Given the description of an element on the screen output the (x, y) to click on. 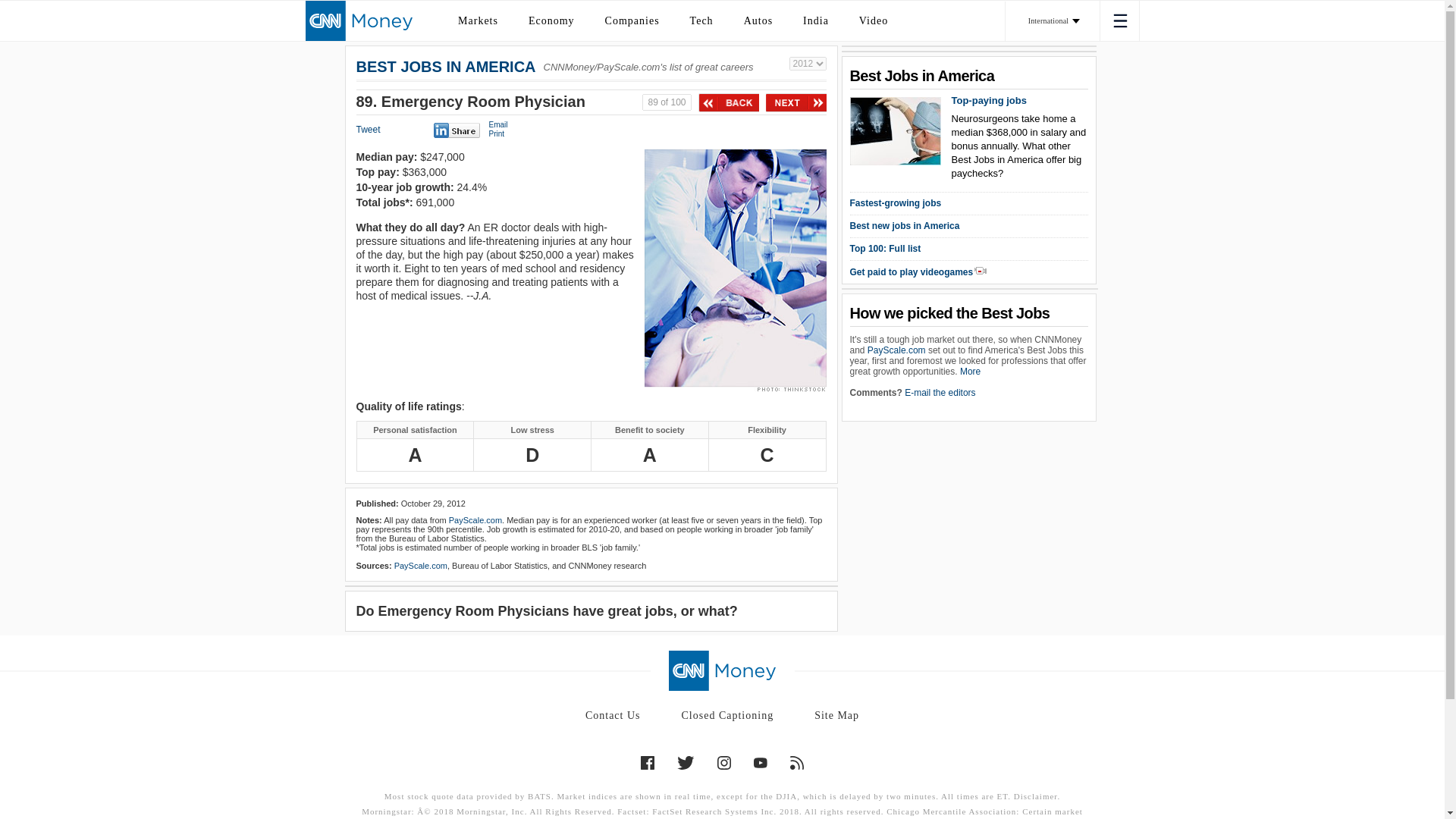
India (815, 20)
Markets (477, 20)
Tech (701, 20)
Companies (632, 20)
Video (873, 20)
Autos (758, 20)
Economy (551, 20)
